Given the description of an element on the screen output the (x, y) to click on. 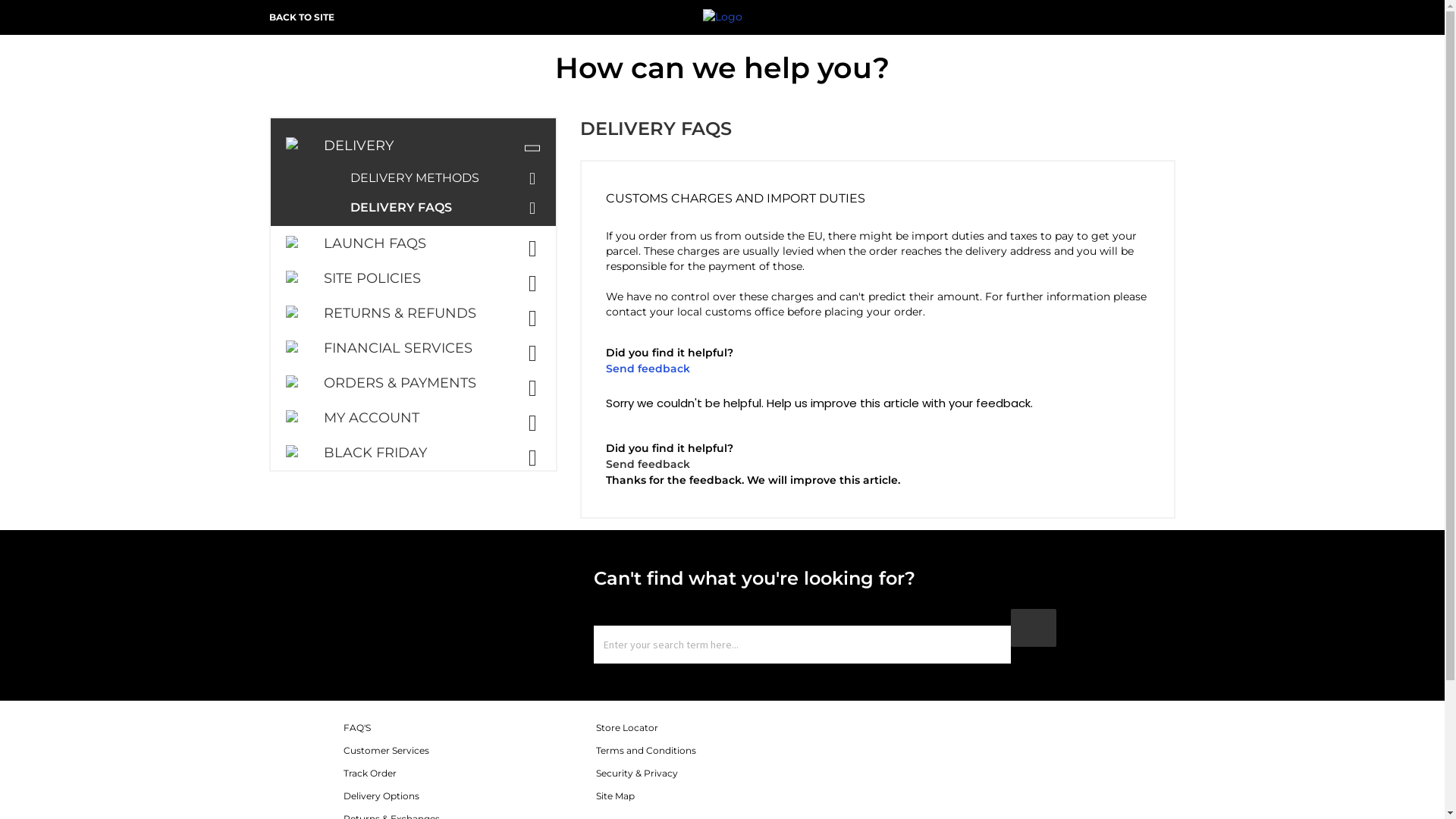
BLACK FRIDAY Element type: text (412, 452)
ORDERS & PAYMENTS Element type: text (412, 382)
FAQ'S Element type: text (356, 727)
Site Map Element type: text (615, 795)
Send feedback Element type: text (647, 368)
Customer Services Element type: text (385, 750)
Terms and Conditions Element type: text (646, 750)
BACK TO SITE Element type: text (301, 16)
Send feedback Element type: text (647, 463)
RETURNS & REFUNDS Element type: text (412, 312)
Store Locator Element type: text (627, 727)
DELIVERY Element type: text (412, 140)
MY ACCOUNT Element type: text (412, 417)
CUSTOMS CHARGES AND IMPORT DUTIES Element type: text (877, 194)
FINANCIAL SERVICES Element type: text (412, 347)
Track Order Element type: text (368, 772)
Security & Privacy Element type: text (636, 772)
Delivery Options Element type: text (380, 795)
SITE POLICIES Element type: text (412, 277)
DELIVERY FAQS Element type: text (448, 207)
DELIVERY METHODS Element type: text (448, 177)
LAUNCH FAQS Element type: text (412, 242)
